Given the description of an element on the screen output the (x, y) to click on. 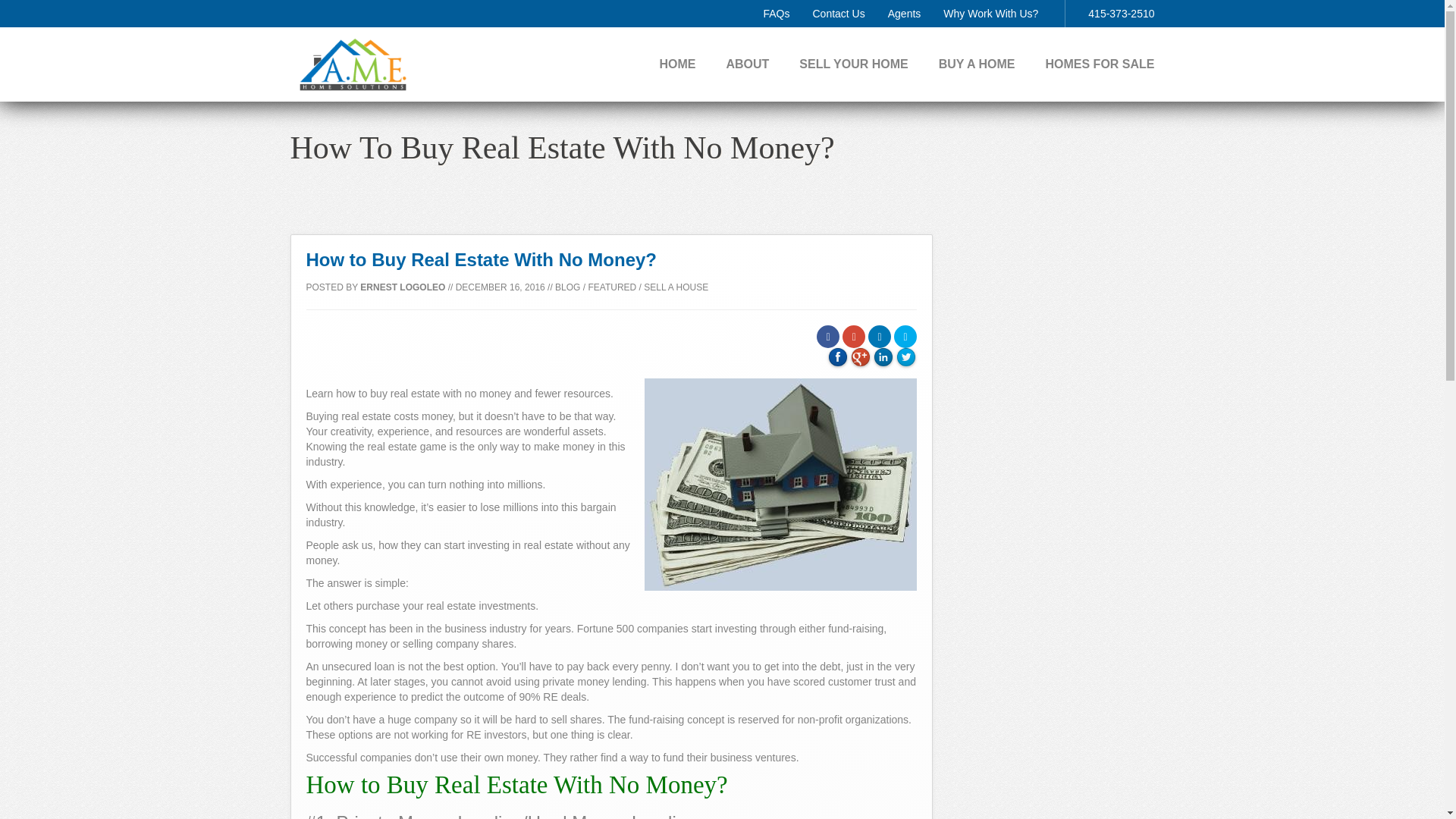
HOME (677, 63)
Why Work With Us? (990, 13)
SELL A HOUSE (675, 286)
BLOG (566, 286)
SELL YOUR HOME (853, 63)
BUY A HOME (976, 63)
Contact Us (838, 13)
FAQs (775, 13)
HOMES FOR SALE (1099, 63)
415-373-2510 (1120, 13)
FEATURED (612, 286)
Agents (904, 13)
ABOUT (746, 63)
